Given the description of an element on the screen output the (x, y) to click on. 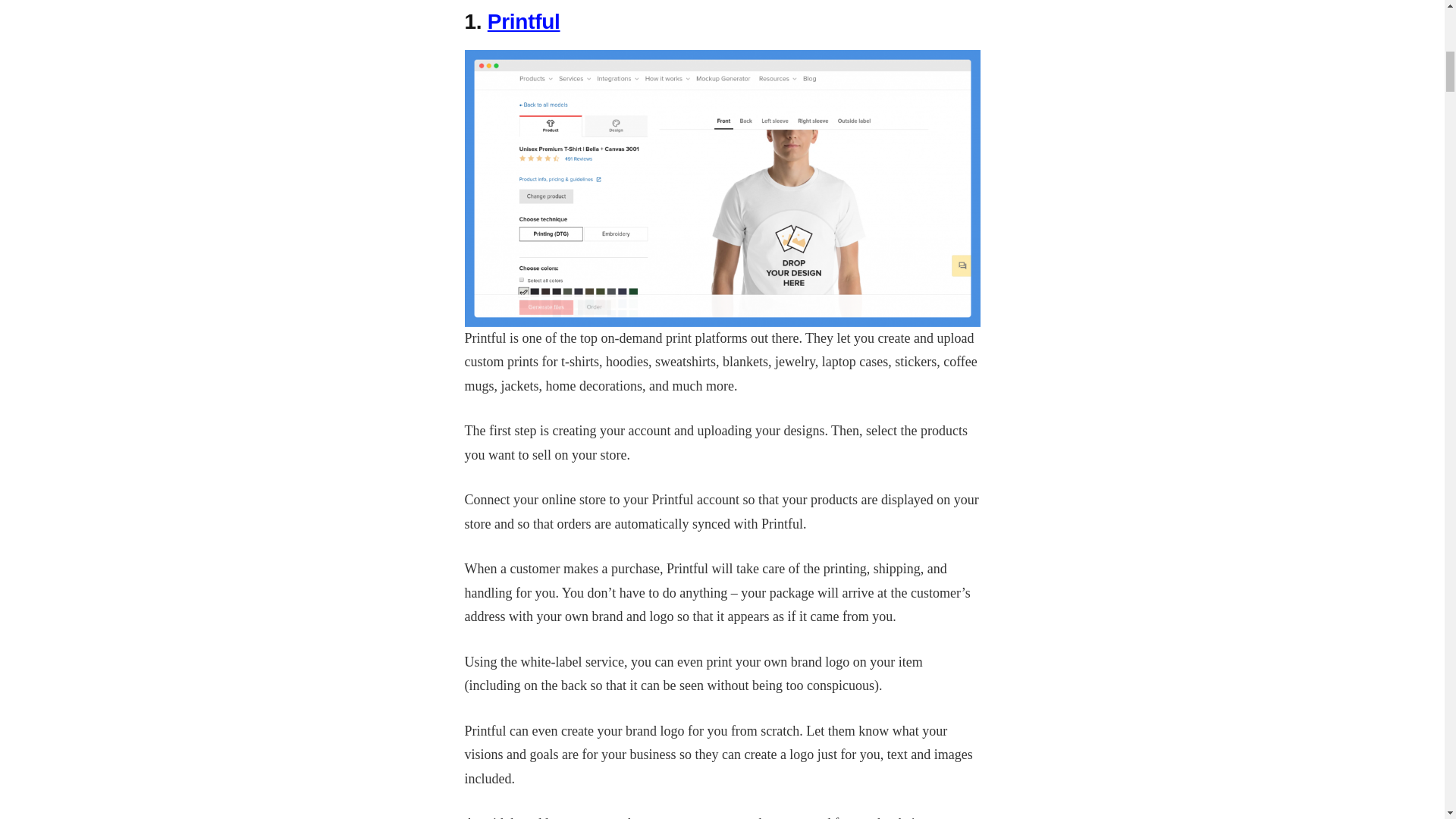
Printful (523, 20)
